Given the description of an element on the screen output the (x, y) to click on. 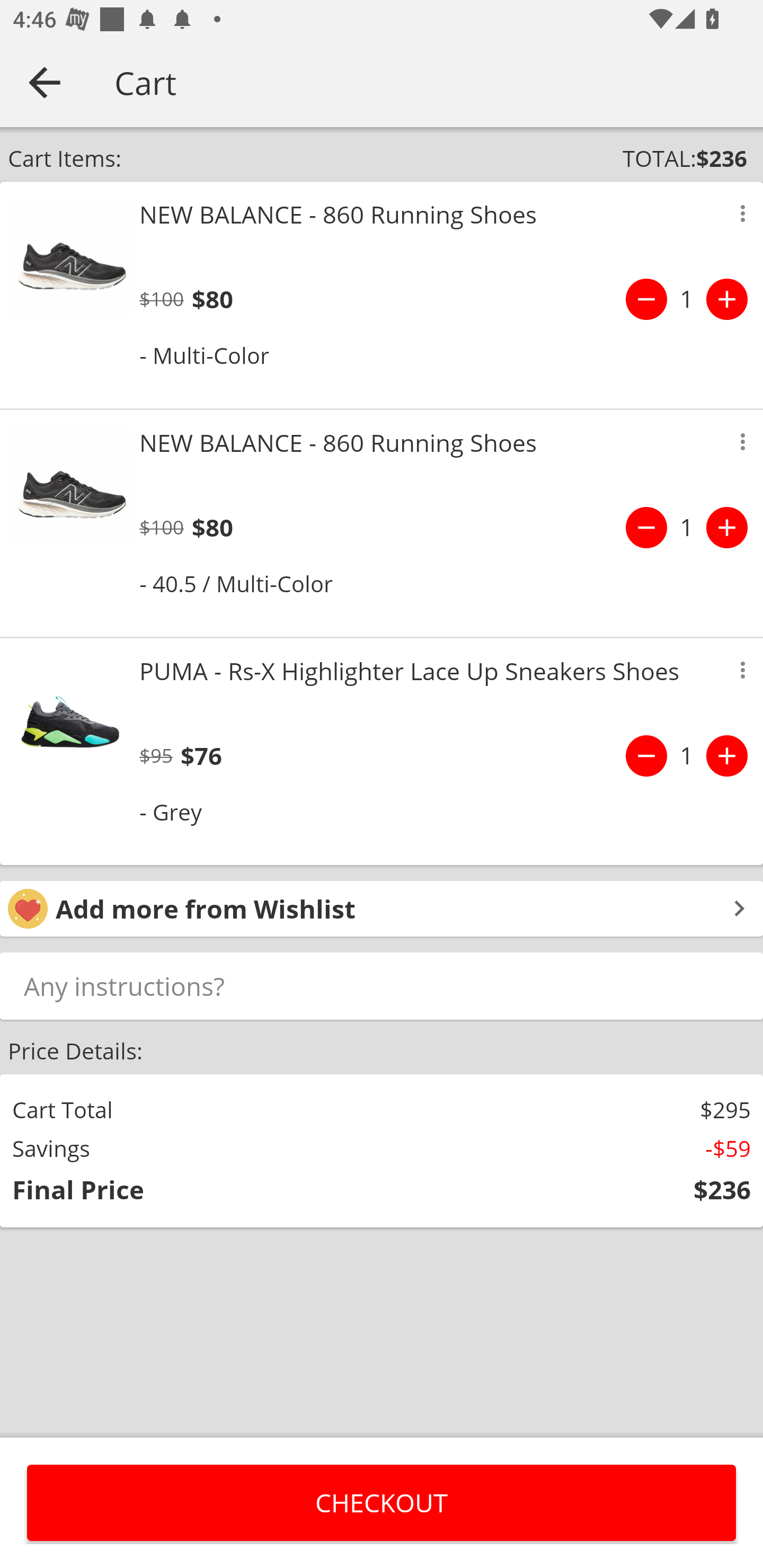
Navigate up (44, 82)
1 (686, 299)
1 (686, 527)
1 (686, 755)
Add more from Wishlist (381, 908)
Any instructions? (381, 985)
CHECKOUT (381, 1502)
